Given the description of an element on the screen output the (x, y) to click on. 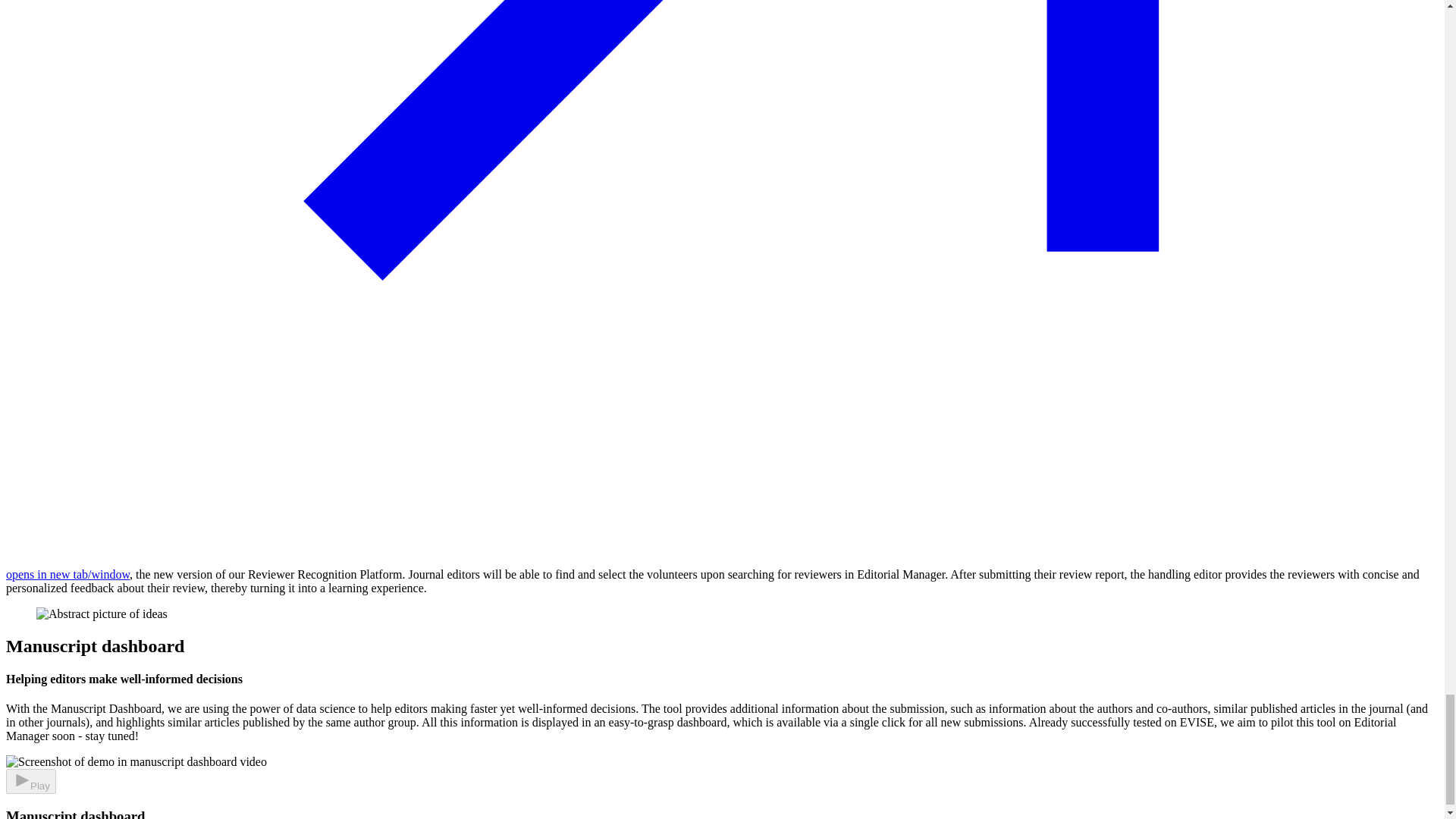
Play (30, 781)
